Given the description of an element on the screen output the (x, y) to click on. 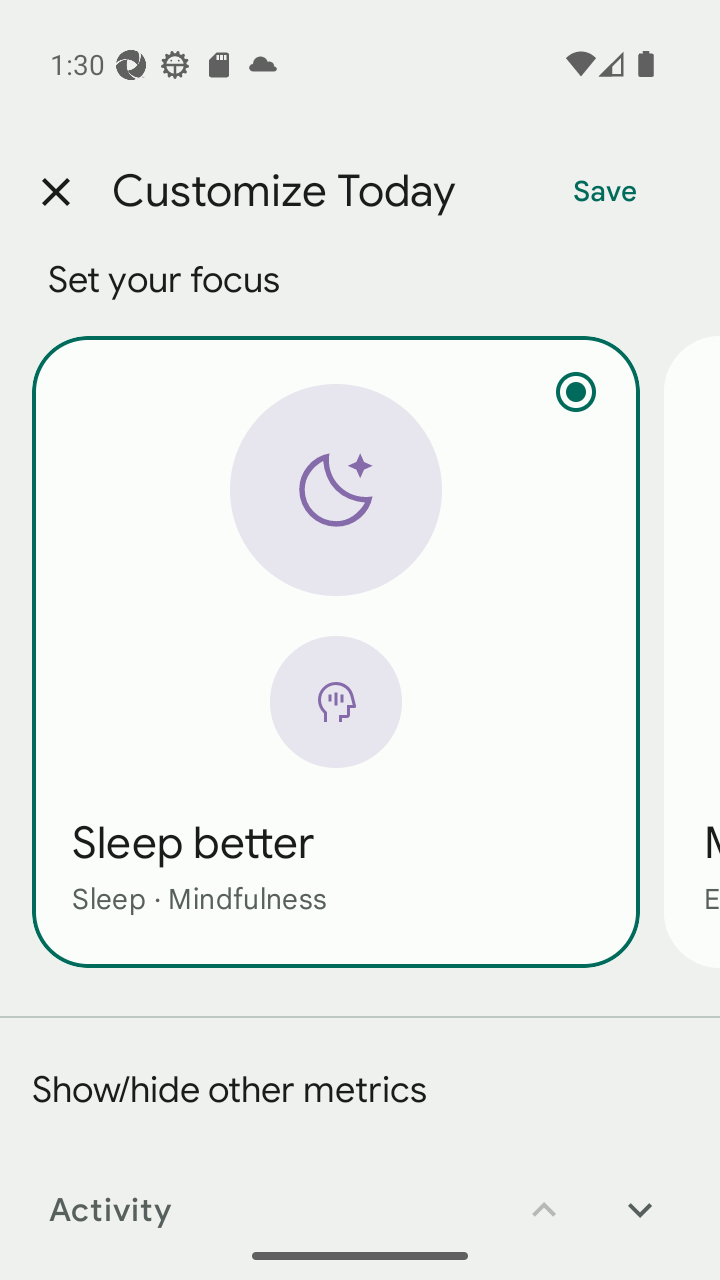
Close (55, 191)
Save (605, 191)
Sleep better Sleep · Mindfulness (335, 651)
Move Activity up (543, 1196)
Move Activity down (639, 1196)
